Given the description of an element on the screen output the (x, y) to click on. 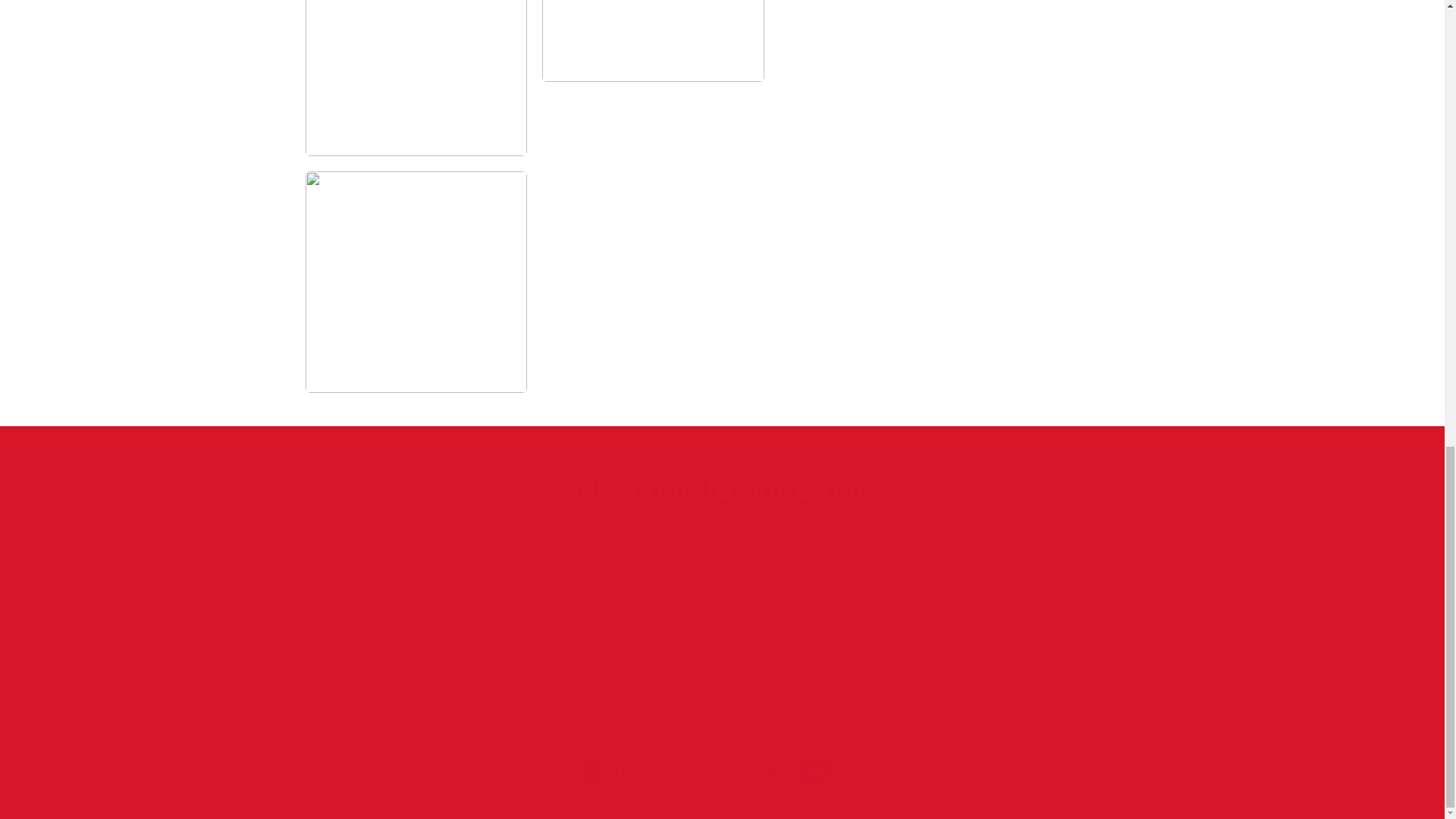
Email (722, 578)
CONTACT US (536, 691)
Subscribe to our emails (721, 487)
